Given the description of an element on the screen output the (x, y) to click on. 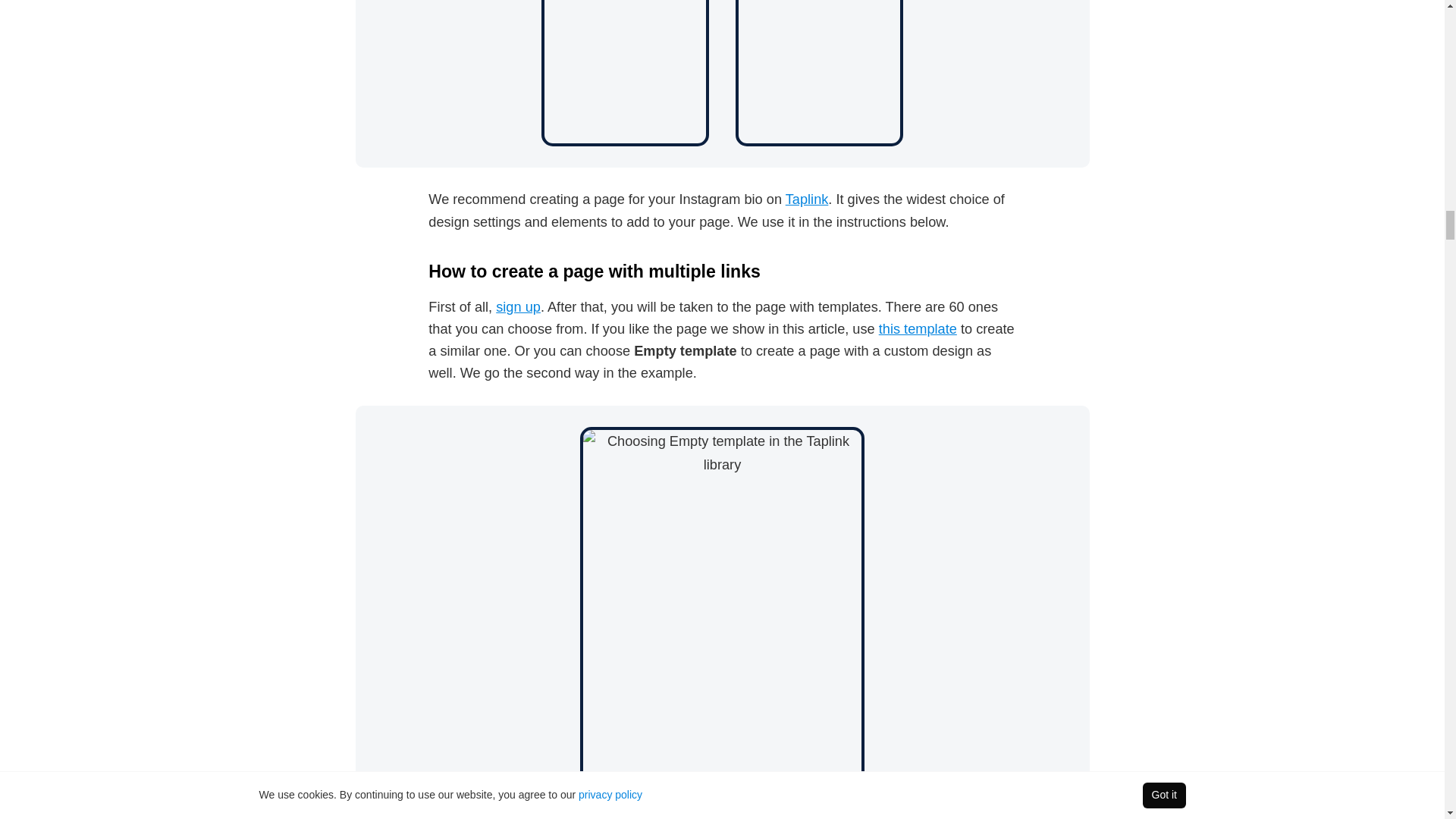
Taplink (807, 199)
sign up (518, 306)
this template (917, 328)
